Given the description of an element on the screen output the (x, y) to click on. 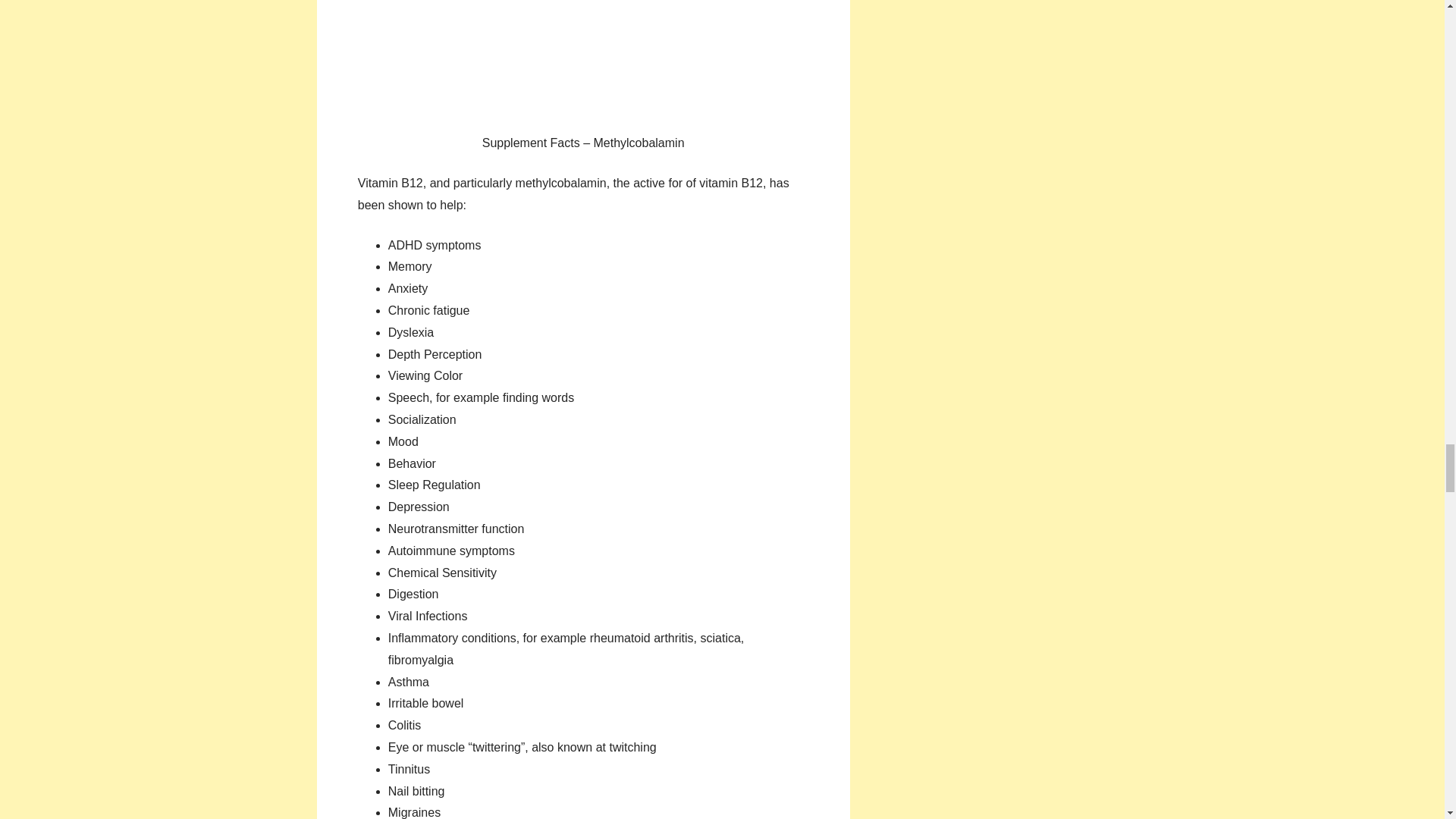
Supplement Facts - Methylcobalamin - 5000 mcg (582, 61)
